Given the description of an element on the screen output the (x, y) to click on. 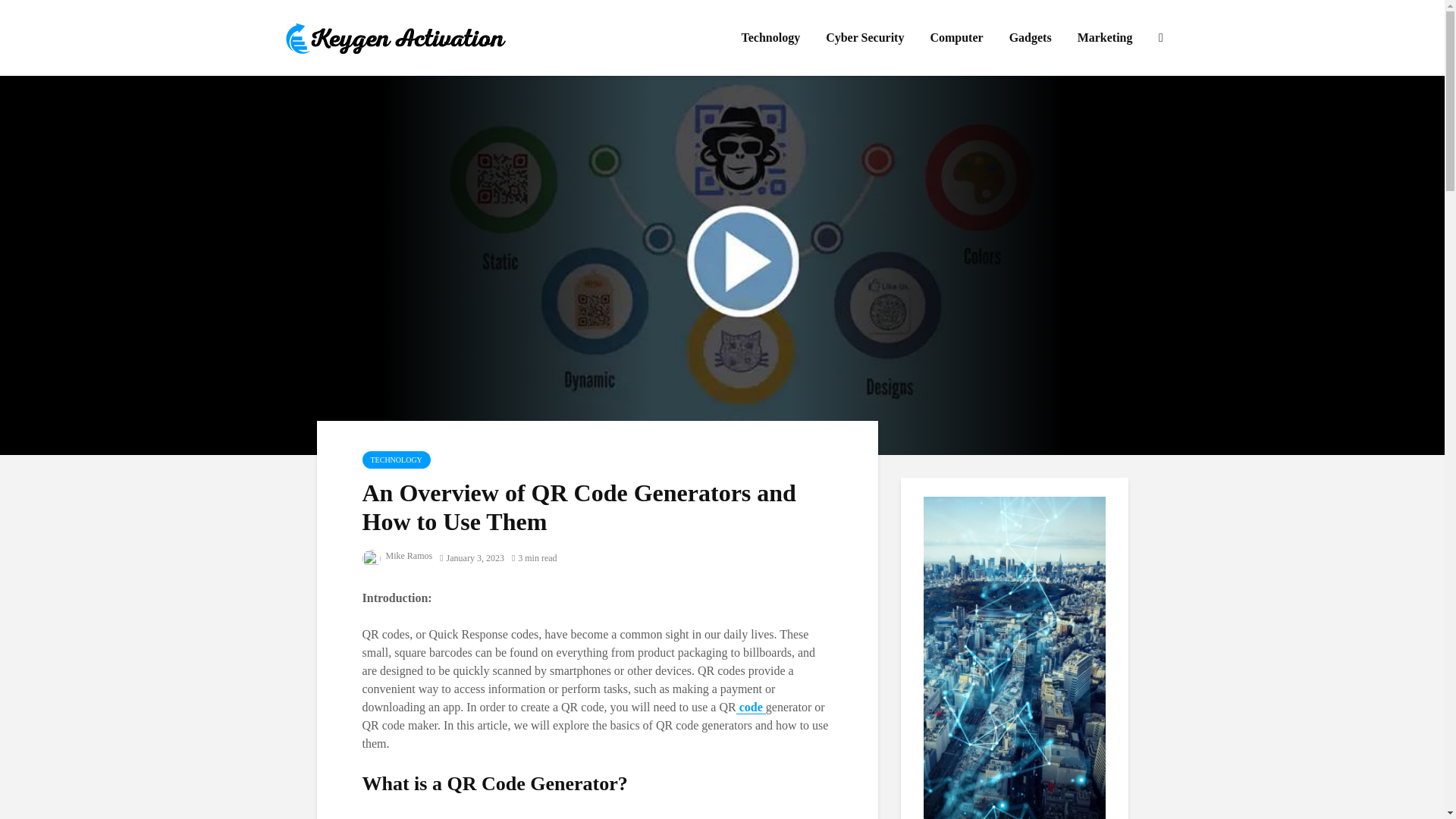
Cyber Security (864, 37)
code (750, 707)
Marketing (1104, 37)
Gadgets (1029, 37)
generator (433, 818)
Computer (956, 37)
Technology (769, 37)
TECHNOLOGY (396, 459)
Mike Ramos (397, 555)
